Given the description of an element on the screen output the (x, y) to click on. 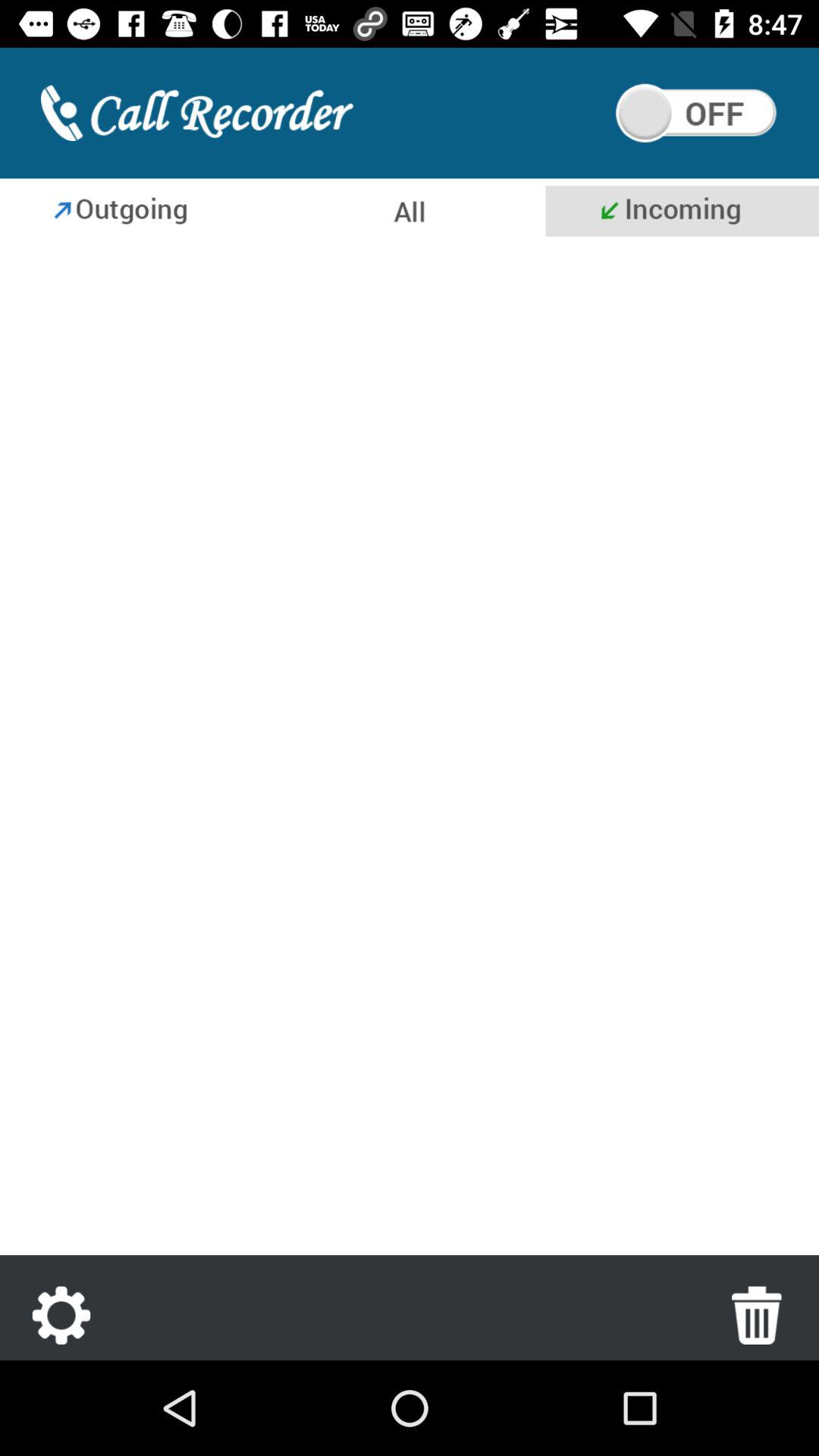
incoming call widget (681, 210)
